Given the description of an element on the screen output the (x, y) to click on. 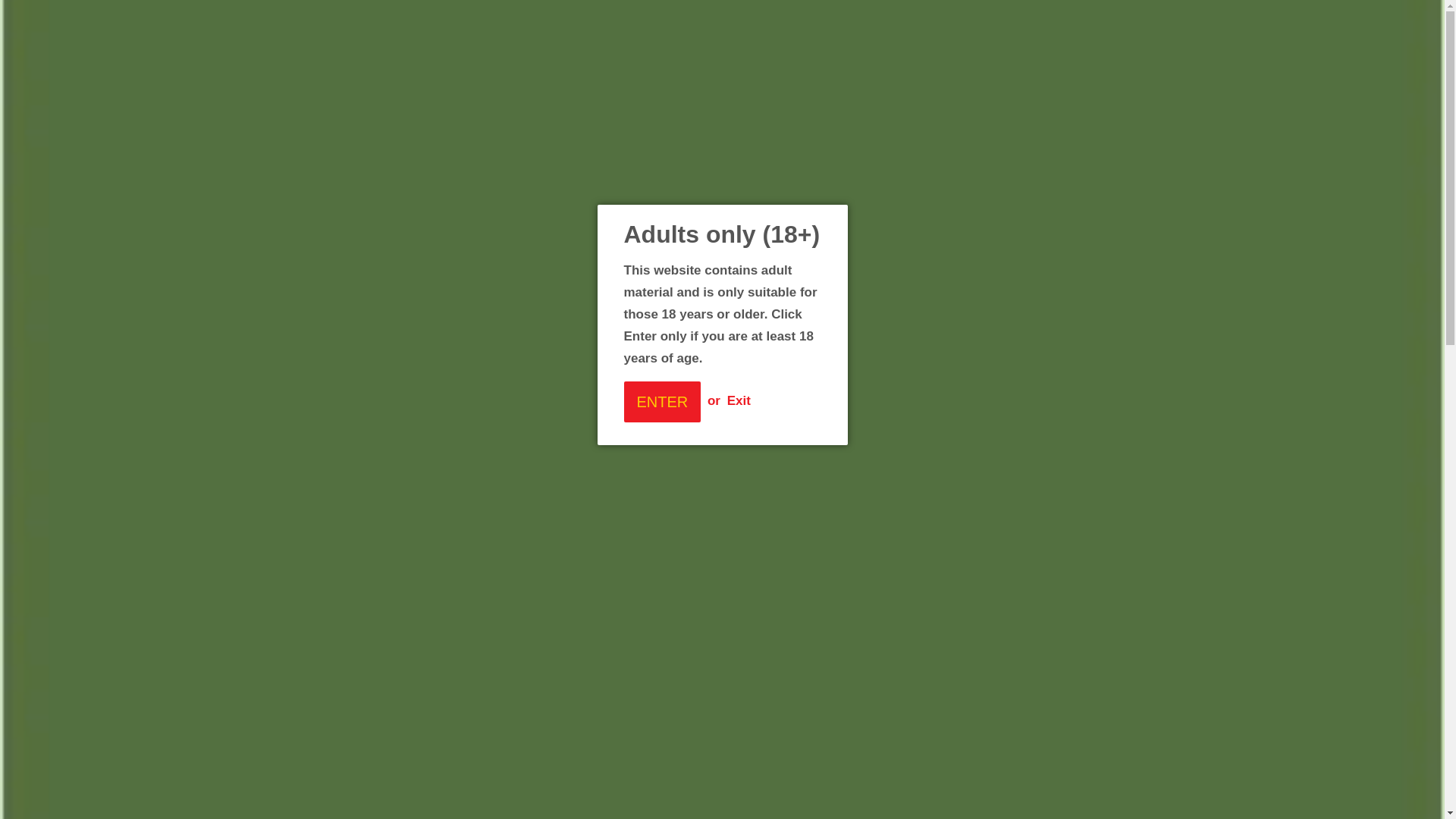
Log in (927, 18)
Create account (1002, 18)
Back to the frontpage (369, 354)
Cart (1079, 18)
ENTER (661, 401)
Exit (738, 400)
